Given the description of an element on the screen output the (x, y) to click on. 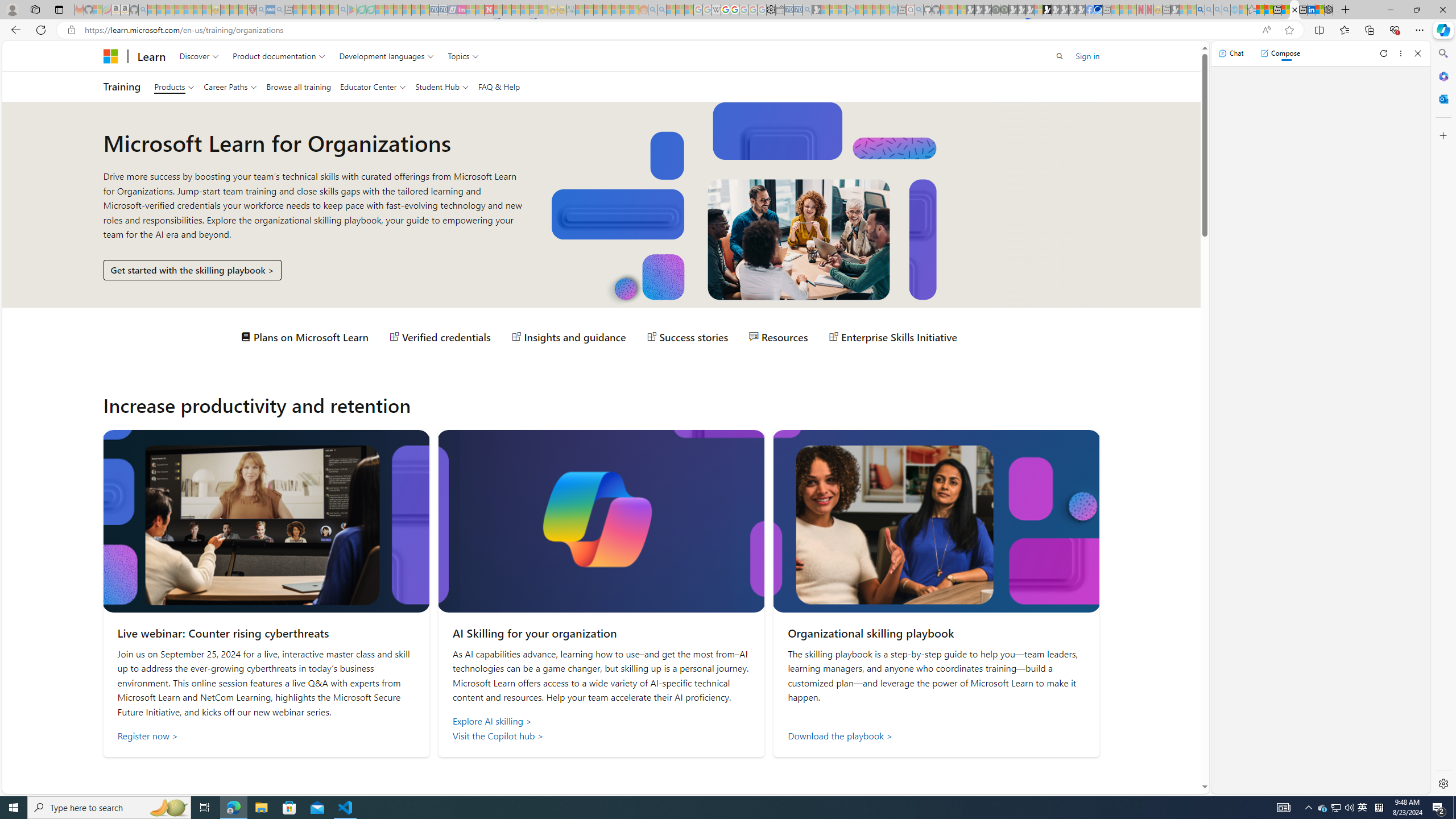
Product documentation (278, 55)
Get started with the skilling playbook > (192, 269)
Product documentation (278, 55)
Career Paths (230, 86)
Compose (1279, 52)
